Given the description of an element on the screen output the (x, y) to click on. 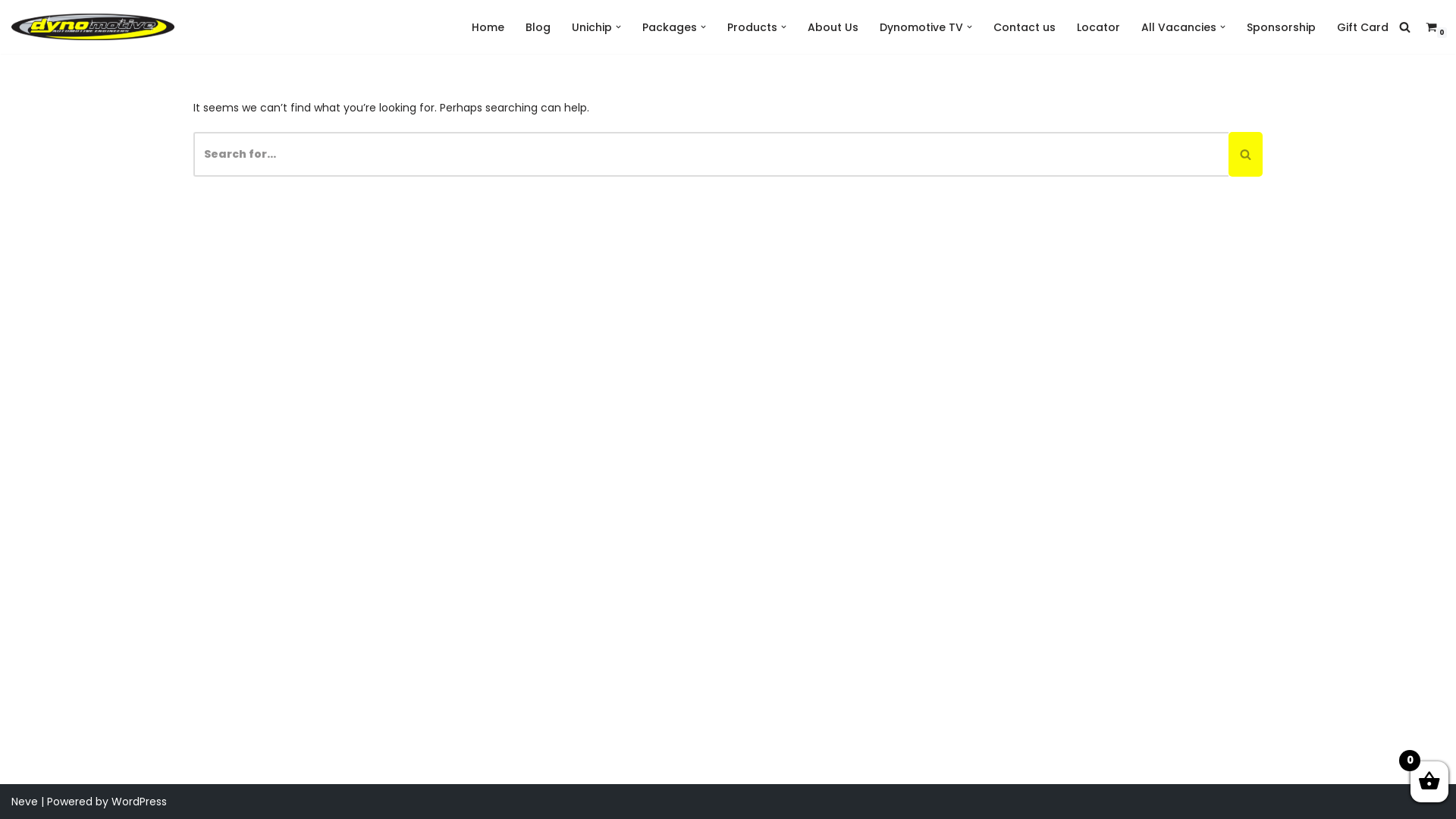
Blog Element type: text (537, 26)
About Us Element type: text (832, 26)
All Vacancies Element type: text (1178, 26)
Dynomotive TV Element type: text (921, 26)
Products Element type: text (752, 26)
Gift Card Element type: text (1362, 26)
Locator Element type: text (1098, 26)
Skip to content Element type: text (11, 31)
Unichip Element type: text (591, 26)
Sponsorship Element type: text (1280, 26)
Contact us Element type: text (1024, 26)
Neve Element type: text (24, 801)
Packages Element type: text (669, 26)
0 Element type: text (1431, 26)
WordPress Element type: text (138, 801)
Home Element type: text (487, 26)
